Given the description of an element on the screen output the (x, y) to click on. 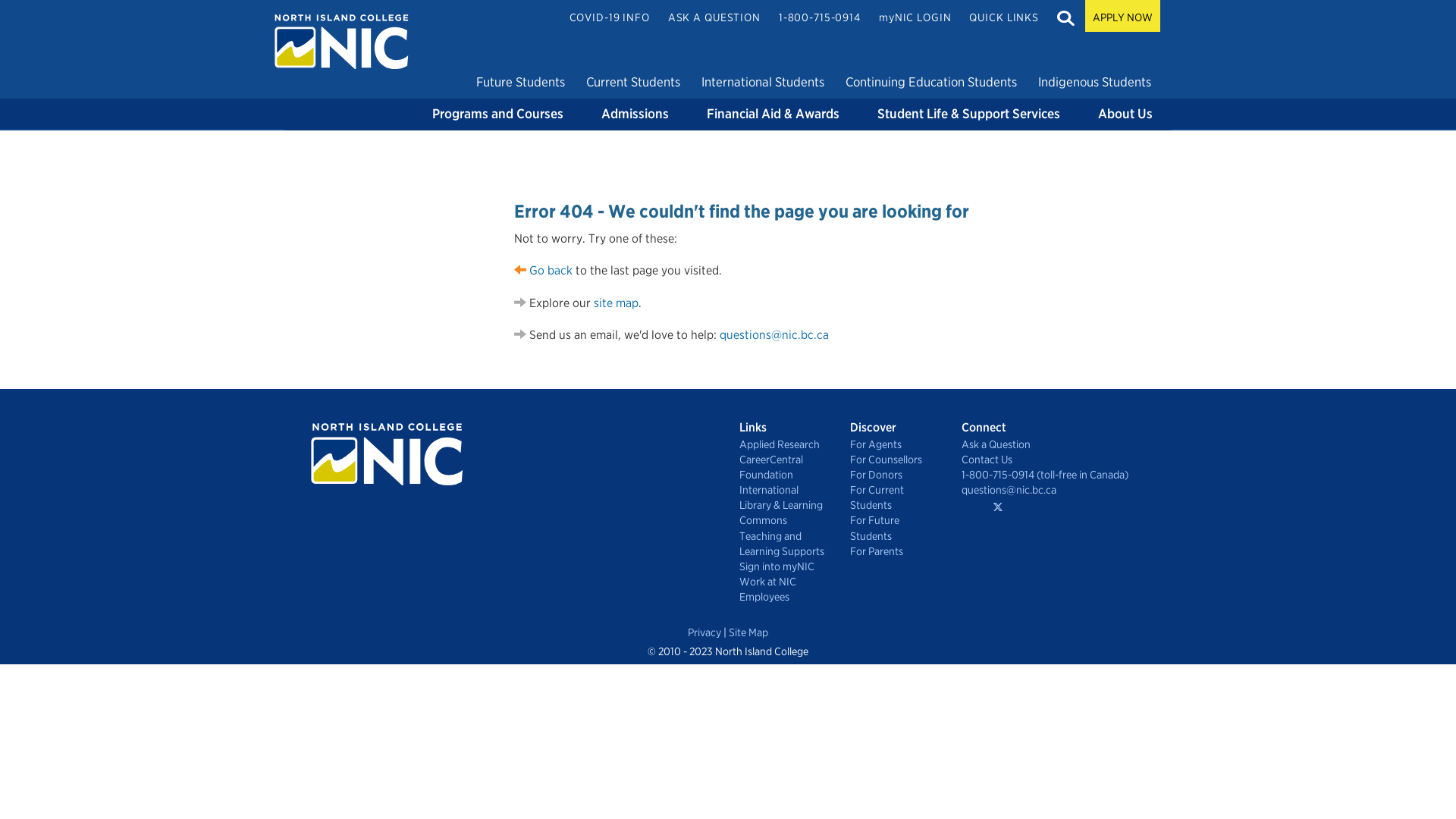
International Students Element type: text (762, 81)
For Donors Element type: text (894, 474)
International Element type: text (783, 489)
site map Element type: text (615, 302)
1-800-715-0914 (toll-free in Canada) Element type: text (1061, 474)
Future Students Element type: text (520, 81)
Student Life & Support Services Element type: text (968, 114)
Contact Us Element type: text (1061, 459)
CareerCentral Element type: text (783, 459)
Foundation Element type: text (783, 474)
APPLY NOW Element type: text (1122, 15)
COVID-19 INFO Element type: text (609, 16)
Ask a Question Element type: text (1061, 443)
Teaching and Learning Supports Element type: text (783, 543)
Library & Learning Commons Element type: text (783, 512)
Privacy Element type: text (704, 631)
Current Students Element type: text (633, 81)
About Us Element type: text (1125, 114)
For Parents Element type: text (894, 550)
Sign into myNIC Element type: text (783, 566)
For Future Students Element type: text (894, 527)
Admissions Element type: text (634, 114)
questions@nic.bc.ca Element type: text (1061, 489)
1-800-715-0914 Element type: text (819, 16)
Work at NIC Element type: text (783, 581)
Site Map Element type: text (748, 631)
Financial Aid & Awards Element type: text (772, 114)
Continuing Education Students Element type: text (931, 81)
For Current Students Element type: text (894, 497)
Programs and Courses Element type: text (497, 114)
Indigenous Students Element type: text (1094, 81)
Employees Element type: text (783, 596)
For Counsellors Element type: text (894, 459)
Go back Element type: text (543, 270)
Applied Research Element type: text (783, 443)
For Agents Element type: text (894, 443)
myNIC LOGIN Element type: text (915, 16)
questions@nic.bc.ca Element type: text (773, 334)
ASK A QUESTION Element type: text (714, 16)
